Given the description of an element on the screen output the (x, y) to click on. 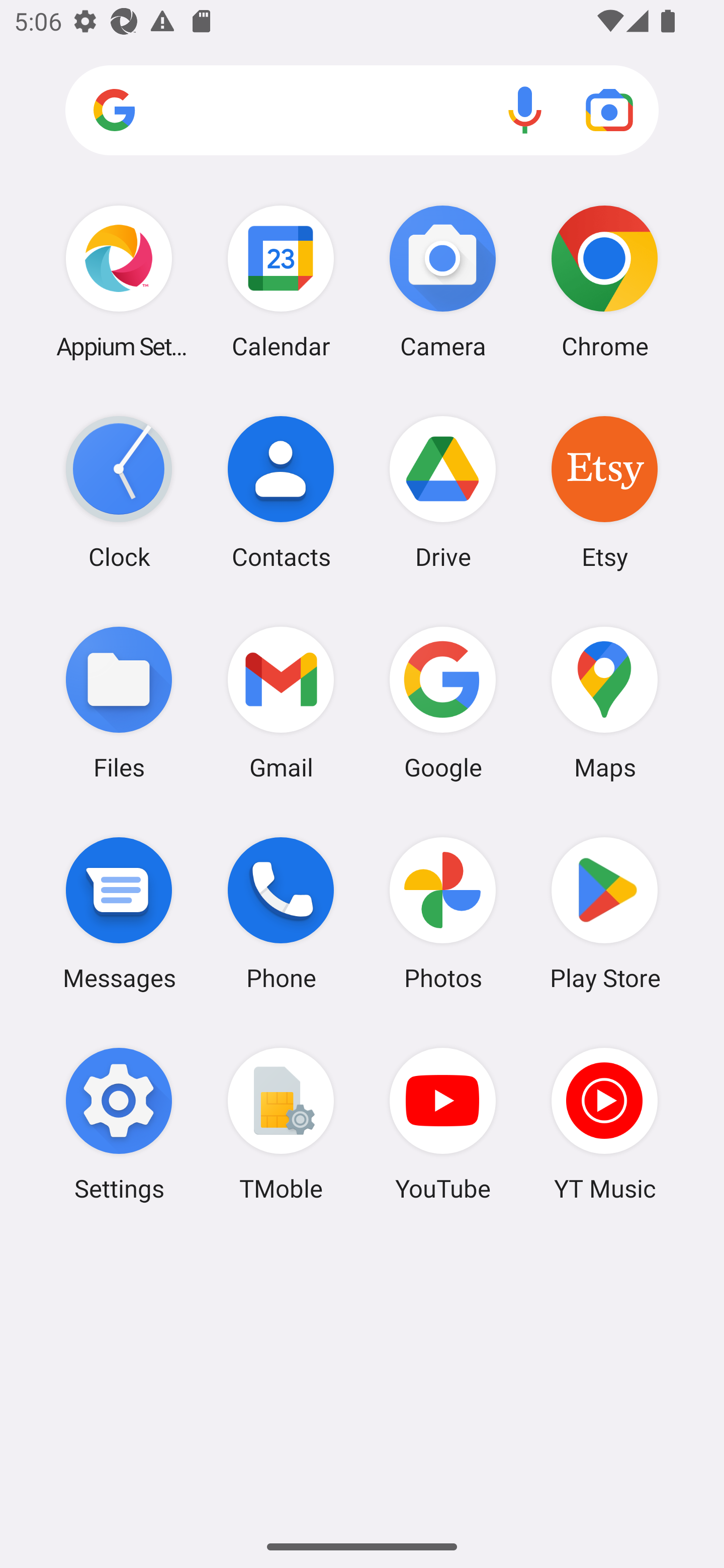
Search apps, web and more (361, 110)
Voice search (524, 109)
Google Lens (608, 109)
Appium Settings (118, 281)
Calendar (280, 281)
Camera (443, 281)
Chrome (604, 281)
Clock (118, 492)
Contacts (280, 492)
Drive (443, 492)
Etsy (604, 492)
Files (118, 702)
Gmail (280, 702)
Google (443, 702)
Maps (604, 702)
Messages (118, 913)
Phone (280, 913)
Photos (443, 913)
Play Store (604, 913)
Settings (118, 1124)
TMoble (280, 1124)
YouTube (443, 1124)
YT Music (604, 1124)
